Given the description of an element on the screen output the (x, y) to click on. 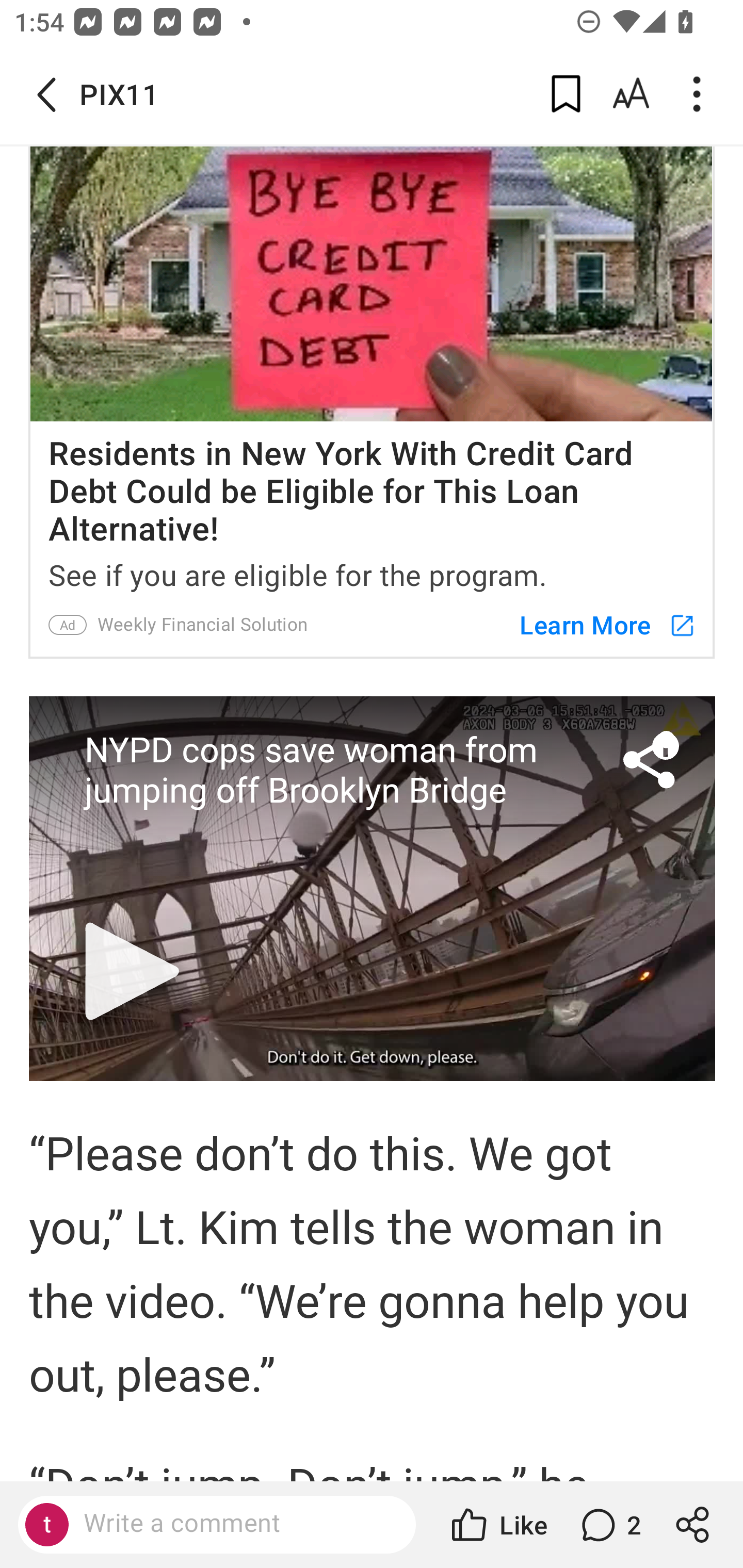
See if you are eligible for the program. (371, 571)
Learn More (597, 624)
Weekly Financial Solution (202, 624)
Like (497, 1524)
2 (608, 1524)
Write a comment (234, 1523)
